Given the description of an element on the screen output the (x, y) to click on. 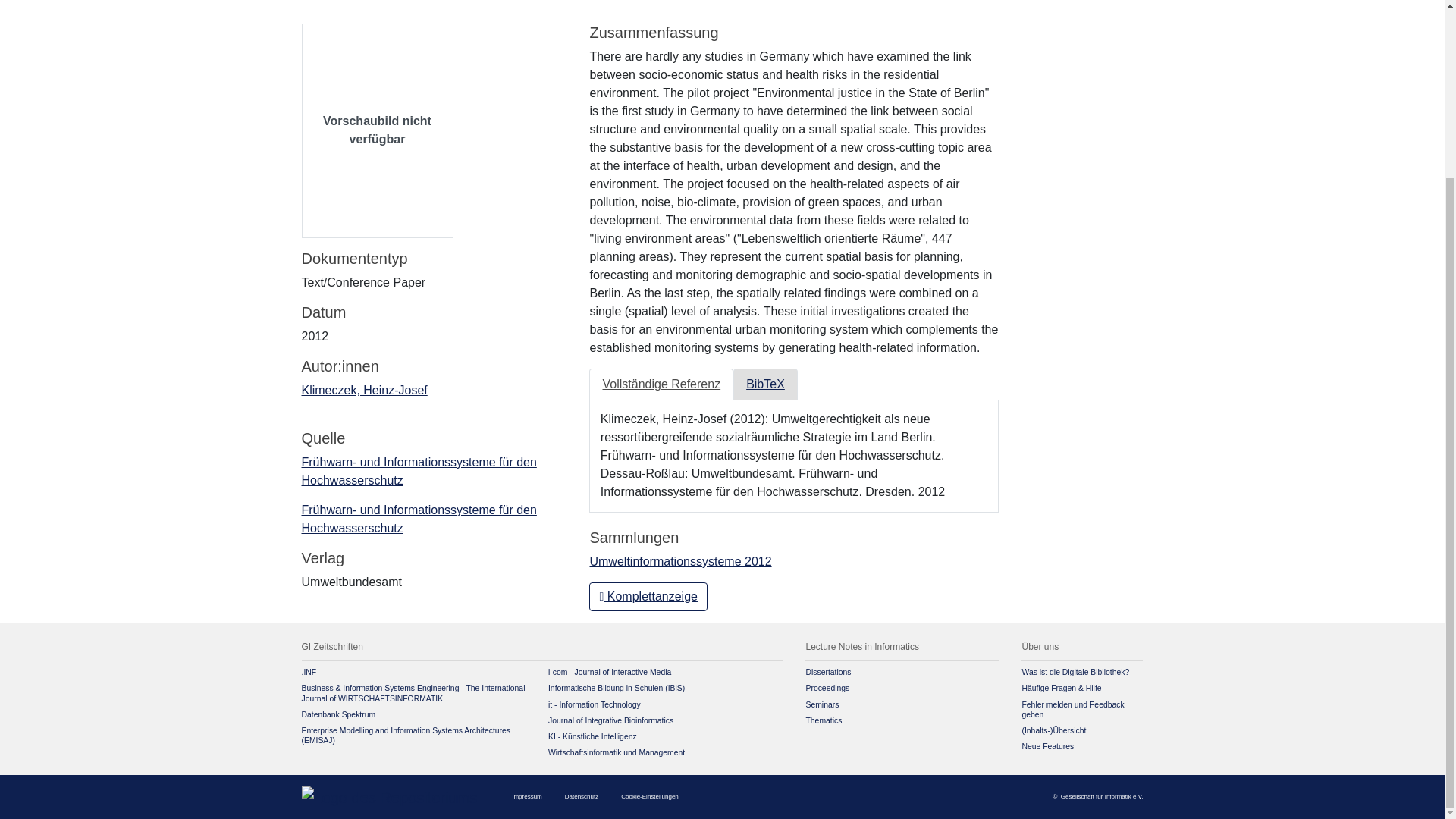
i-com - Journal of Interactive Media (609, 672)
BibTeX (765, 384)
Umweltinformationssysteme 2012 (680, 561)
Dissertations (827, 672)
Thematics (823, 720)
Komplettanzeige (647, 596)
it - Information Technology (594, 705)
Klimeczek, Heinz-Josef (364, 390)
.INF (309, 672)
Proceedings (826, 687)
